Given the description of an element on the screen output the (x, y) to click on. 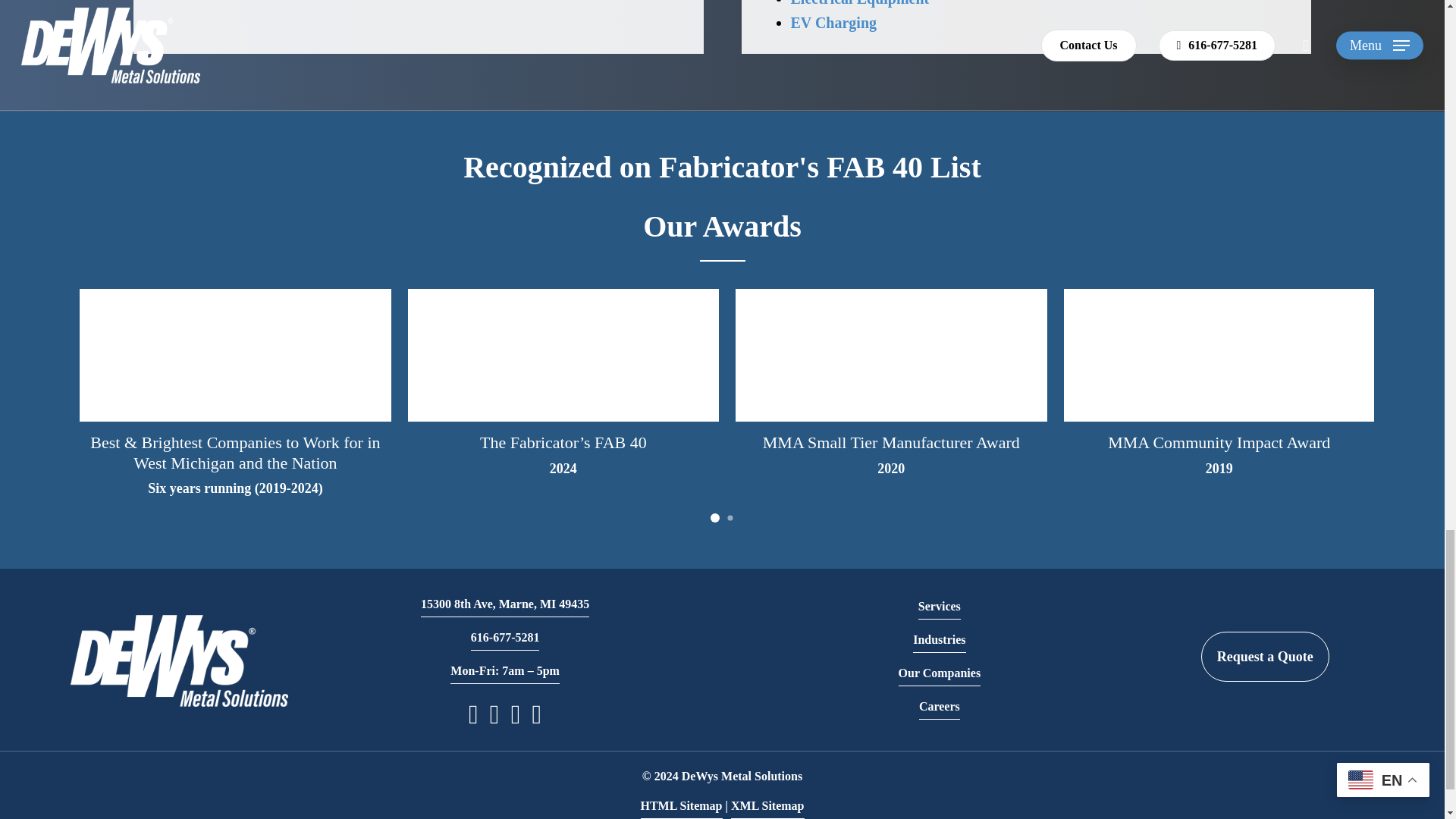
Electrical Equipment (859, 3)
EV Charging (833, 22)
